Given the description of an element on the screen output the (x, y) to click on. 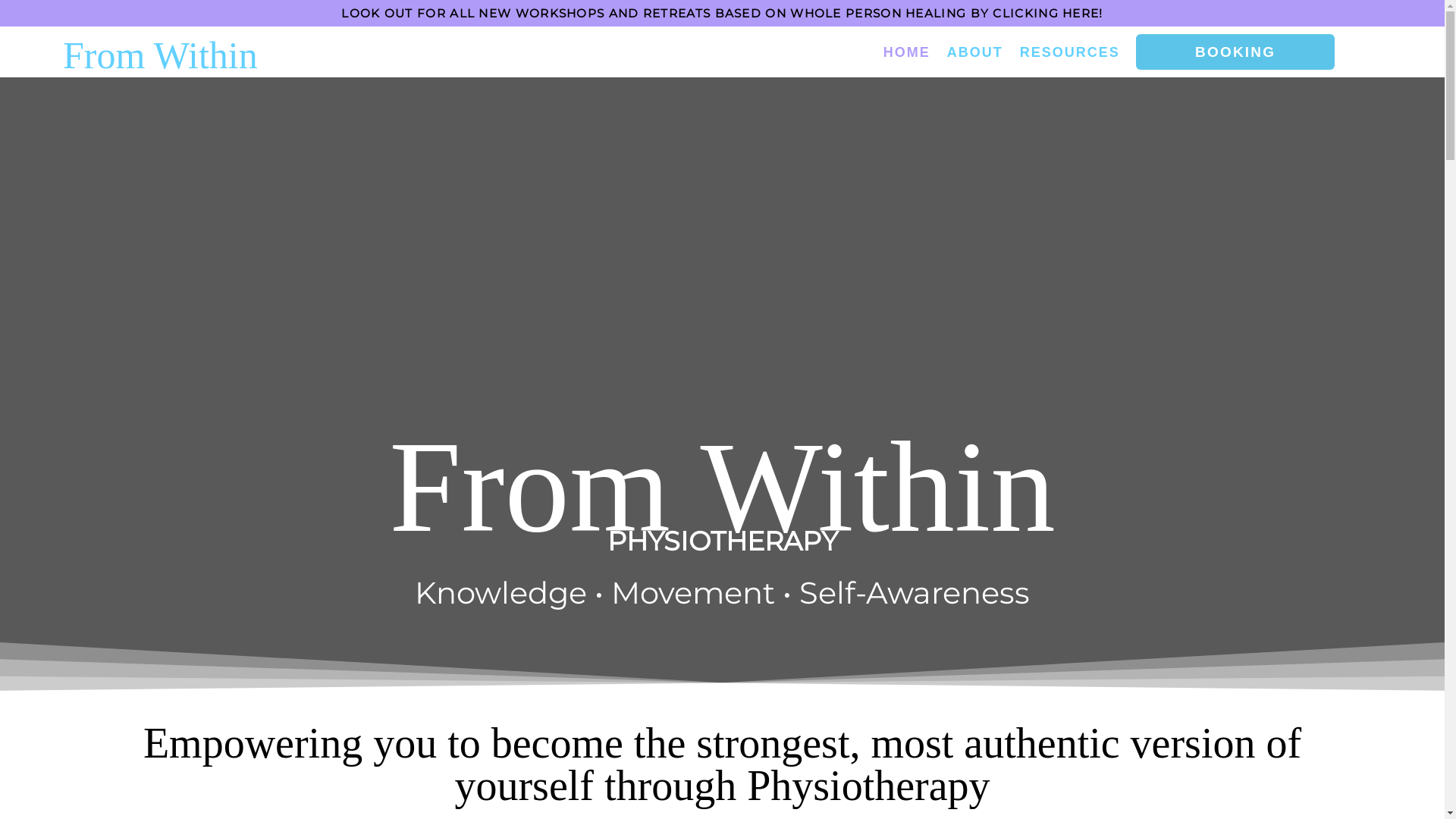
BOOKING Element type: text (1235, 51)
From Within Element type: text (159, 55)
ABOUT Element type: text (974, 51)
HOME Element type: text (906, 51)
Skip to content Element type: text (11, 31)
RESOURCES Element type: text (1069, 51)
